Given the description of an element on the screen output the (x, y) to click on. 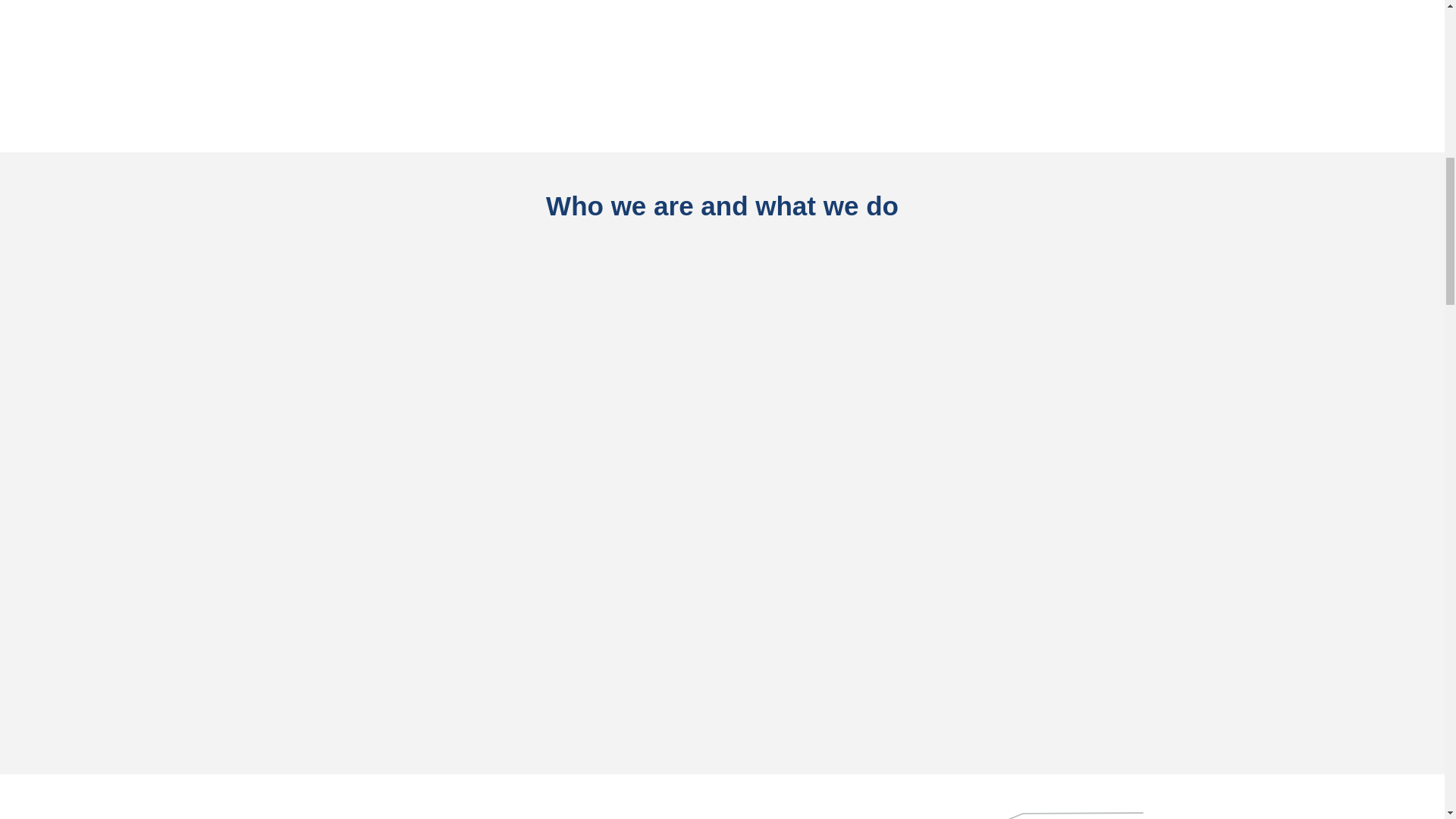
Back to top (1404, 20)
